Given the description of an element on the screen output the (x, y) to click on. 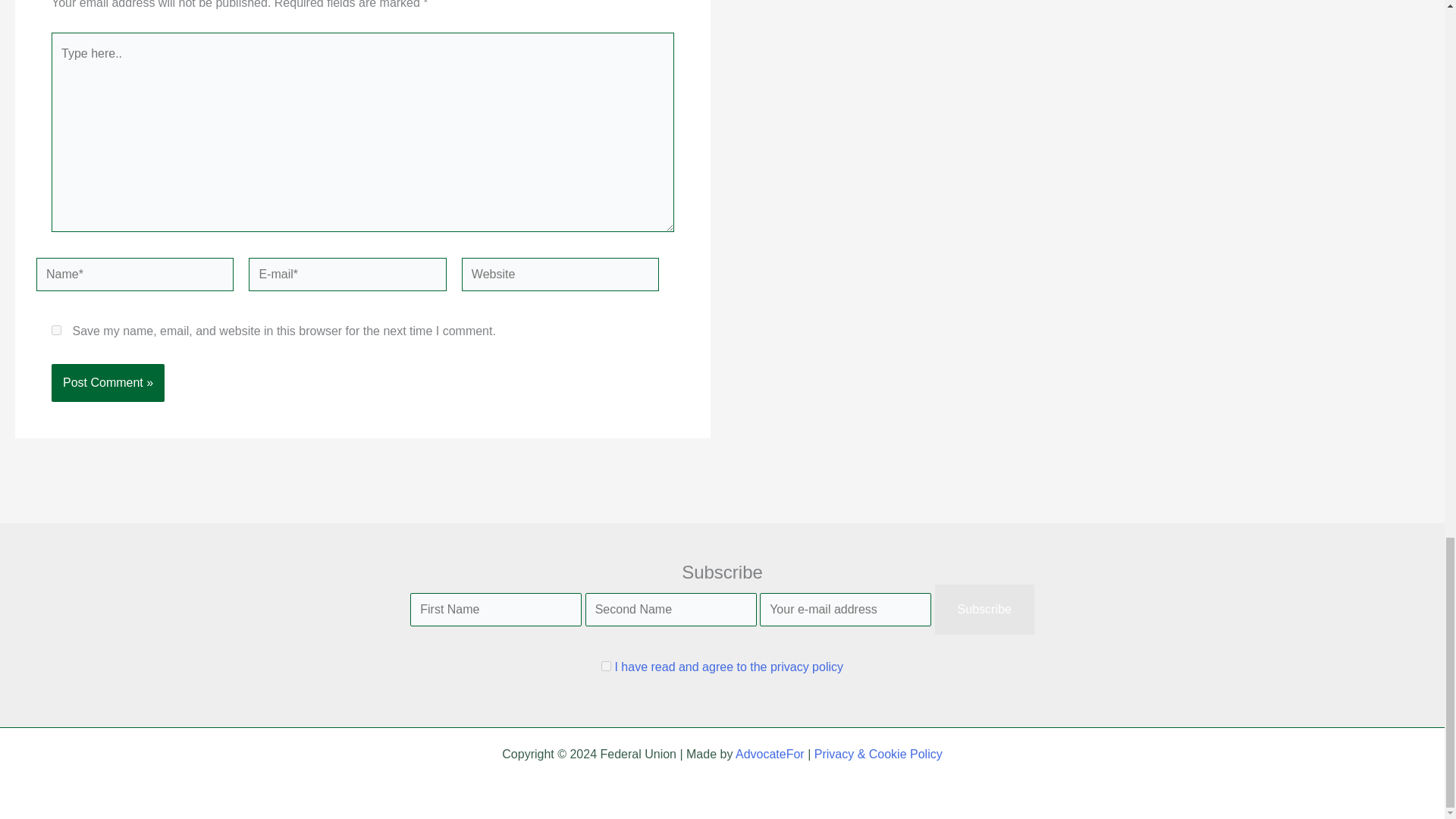
1 (606, 665)
Subscribe (983, 609)
yes (55, 329)
